Given the description of an element on the screen output the (x, y) to click on. 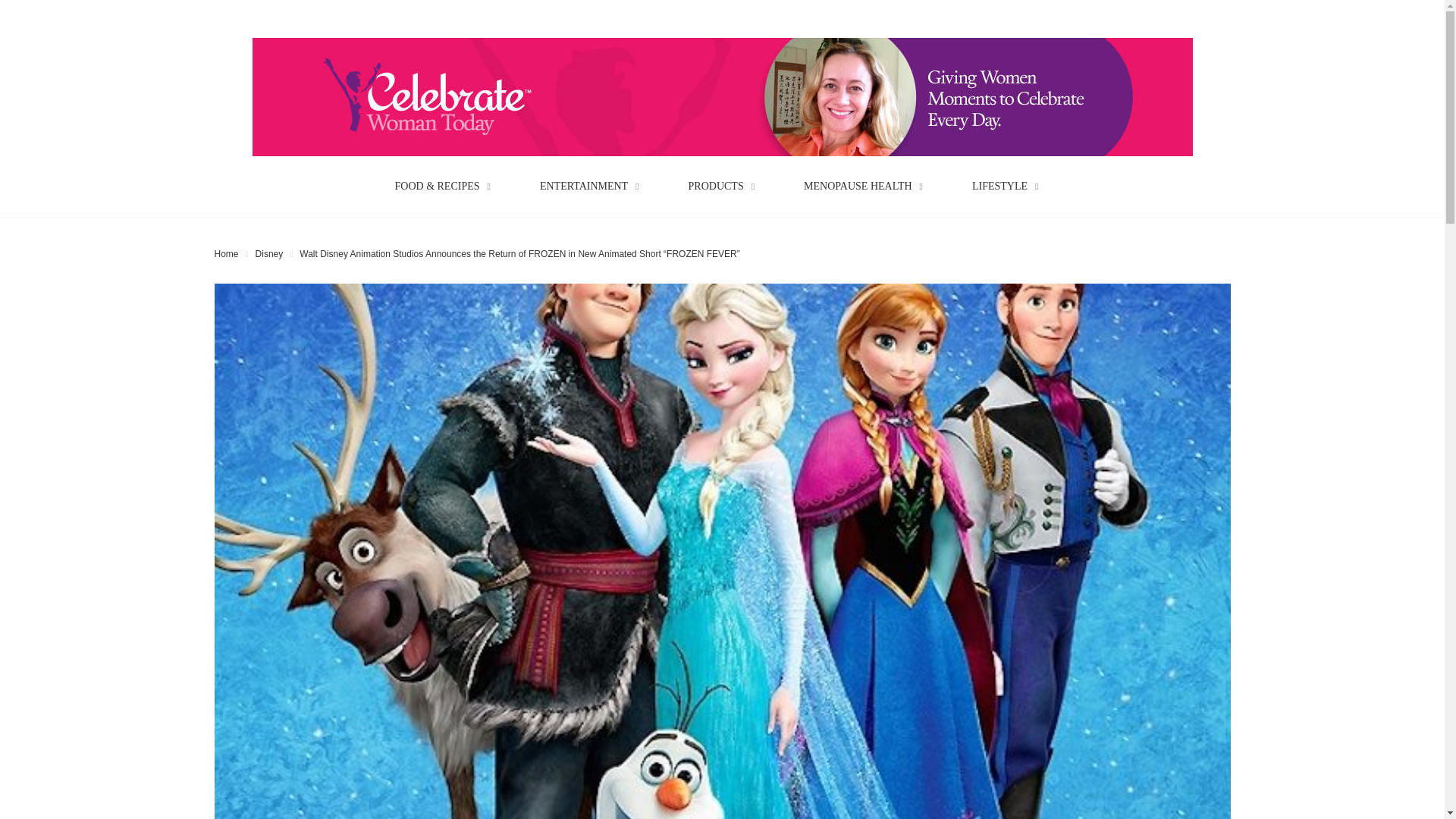
ENTERTAINMENT (595, 186)
MENOPAUSE HEALTH (868, 186)
PRODUCTS (727, 186)
